Given the description of an element on the screen output the (x, y) to click on. 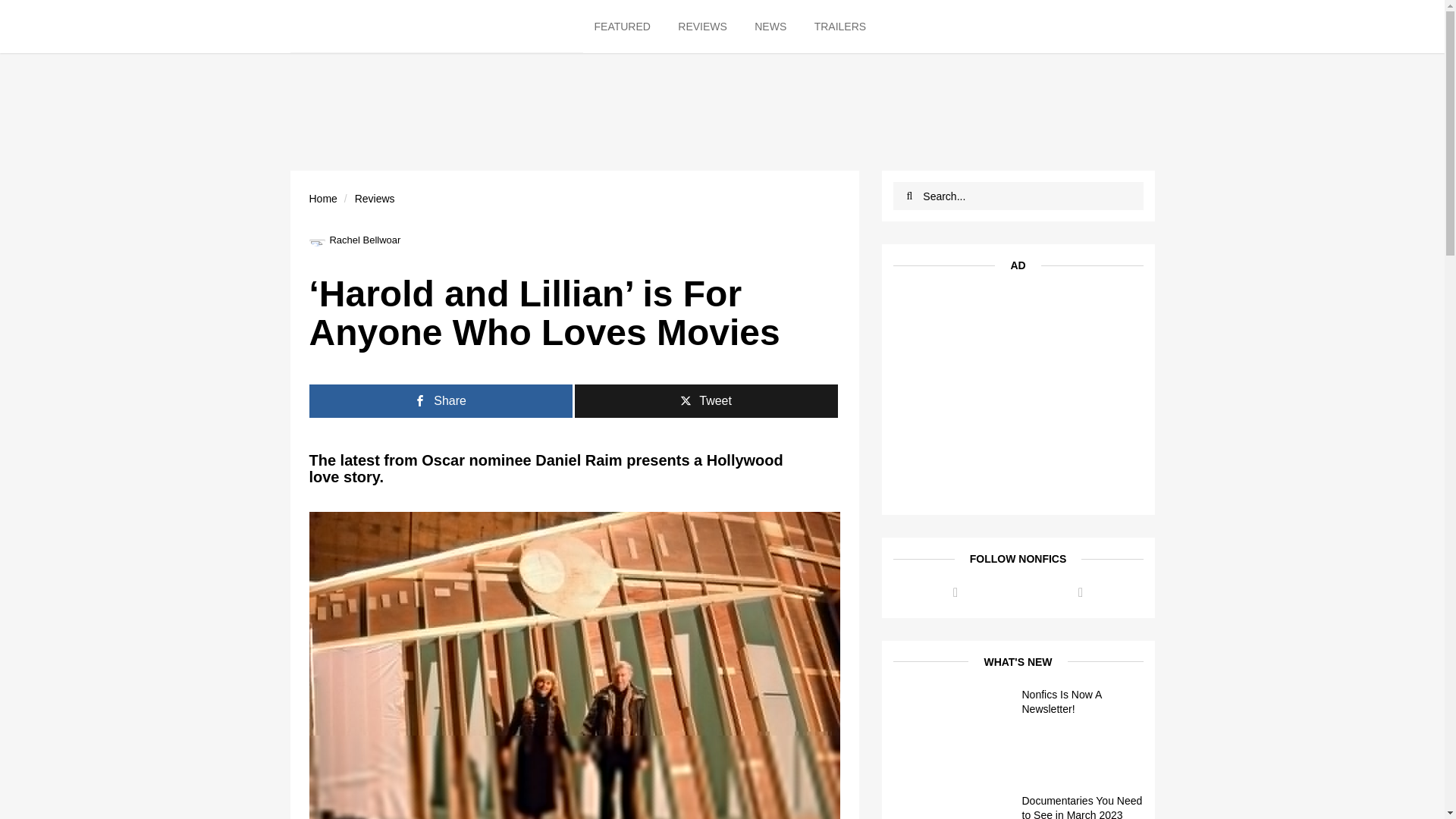
Nonfics Is Now A Newsletter! (1082, 701)
Search for: (1028, 195)
Reviews (374, 198)
REVIEWS (702, 26)
Tweet (706, 400)
TRAILERS (839, 26)
Rachel Bellwoar (354, 239)
Home (322, 198)
NEWS (770, 26)
FEATURED (629, 26)
